Given the description of an element on the screen output the (x, y) to click on. 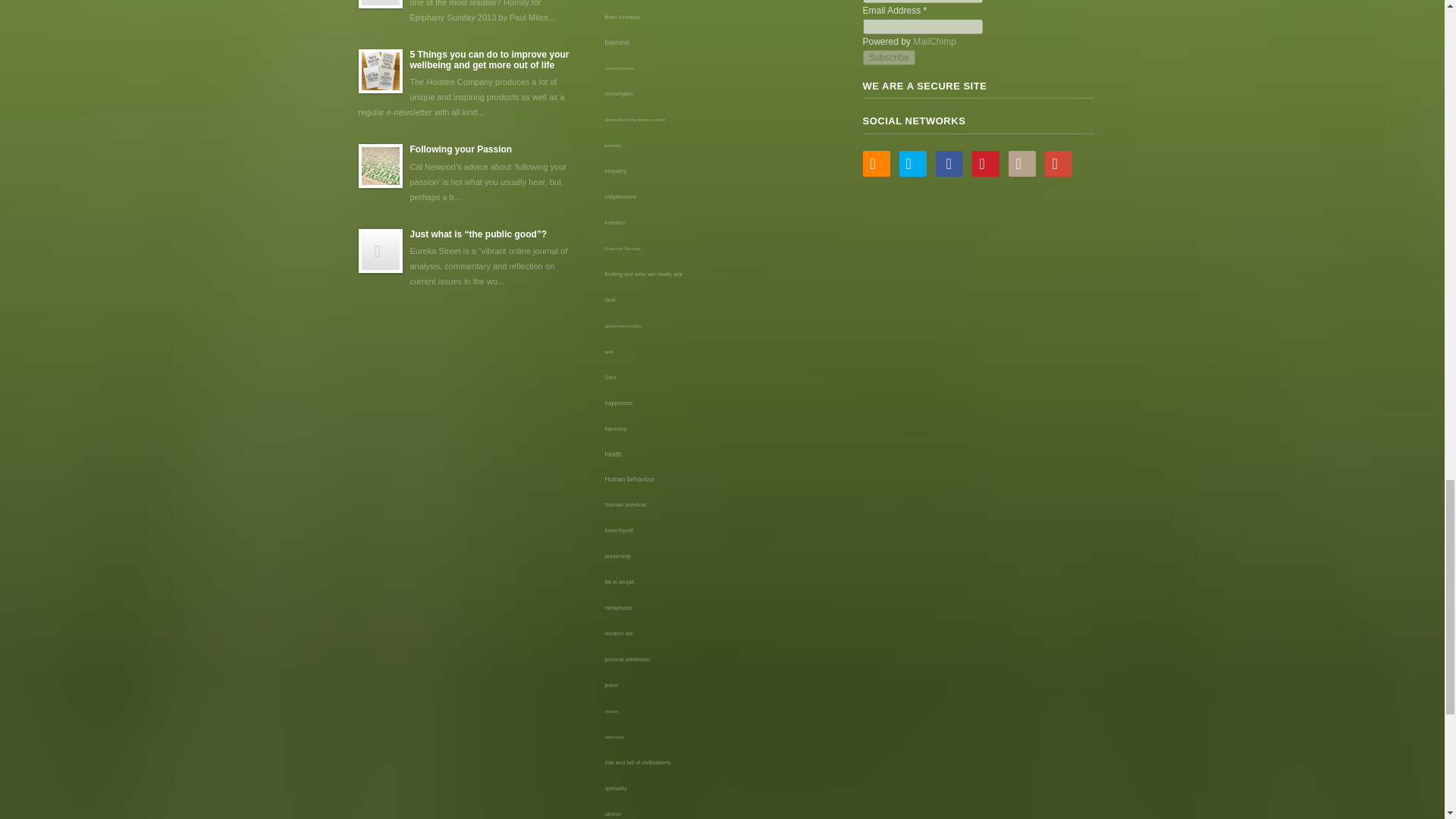
Facebook (949, 163)
MailChimp - email marketing made easy and fun (934, 41)
Twitter (912, 163)
The Nativity Story (465, 12)
Following your Passion (465, 173)
Pinterest (985, 163)
Subscribe (889, 57)
RSS Feed (876, 163)
